Given the description of an element on the screen output the (x, y) to click on. 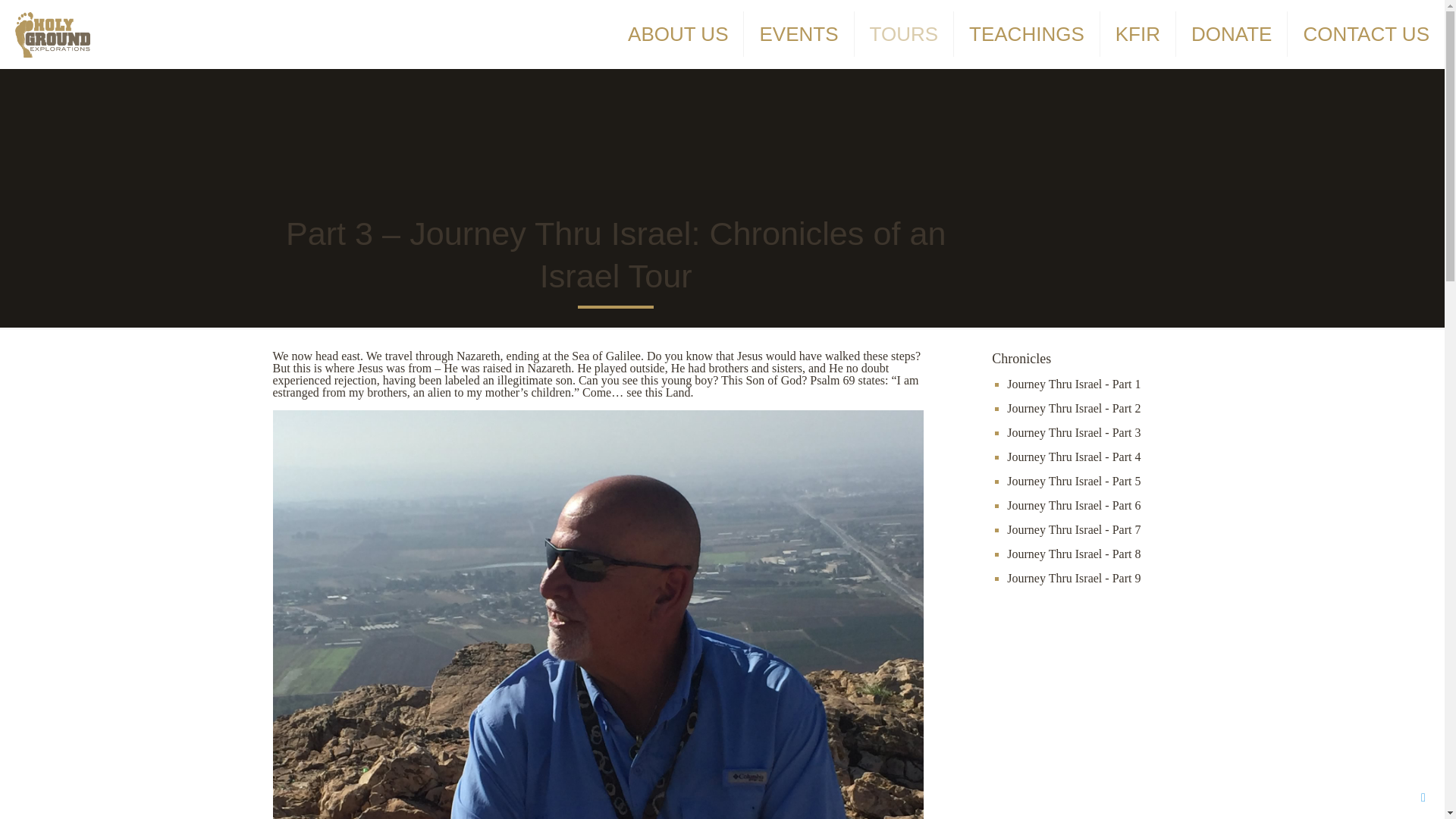
Holy Ground Explorations (52, 33)
EVENTS (798, 33)
TOURS (904, 33)
TEACHINGS (1026, 33)
Journey Thru Israel - Part 4 (1073, 456)
Journey Thru Israel - Part 9 (1073, 577)
Journey Thru Israel - Part 1 (1073, 383)
Journey Thru Israel - Part 5 (1073, 481)
Journey Thru Israel - Part 2 (1073, 408)
KFIR (1138, 33)
Journey Thru Israel - Part 8 (1073, 553)
ABOUT US (678, 33)
DONATE (1231, 33)
Journey Thru Israel - Part 3 (1073, 431)
Journey Thru Israel - Part 7 (1073, 529)
